Given the description of an element on the screen output the (x, y) to click on. 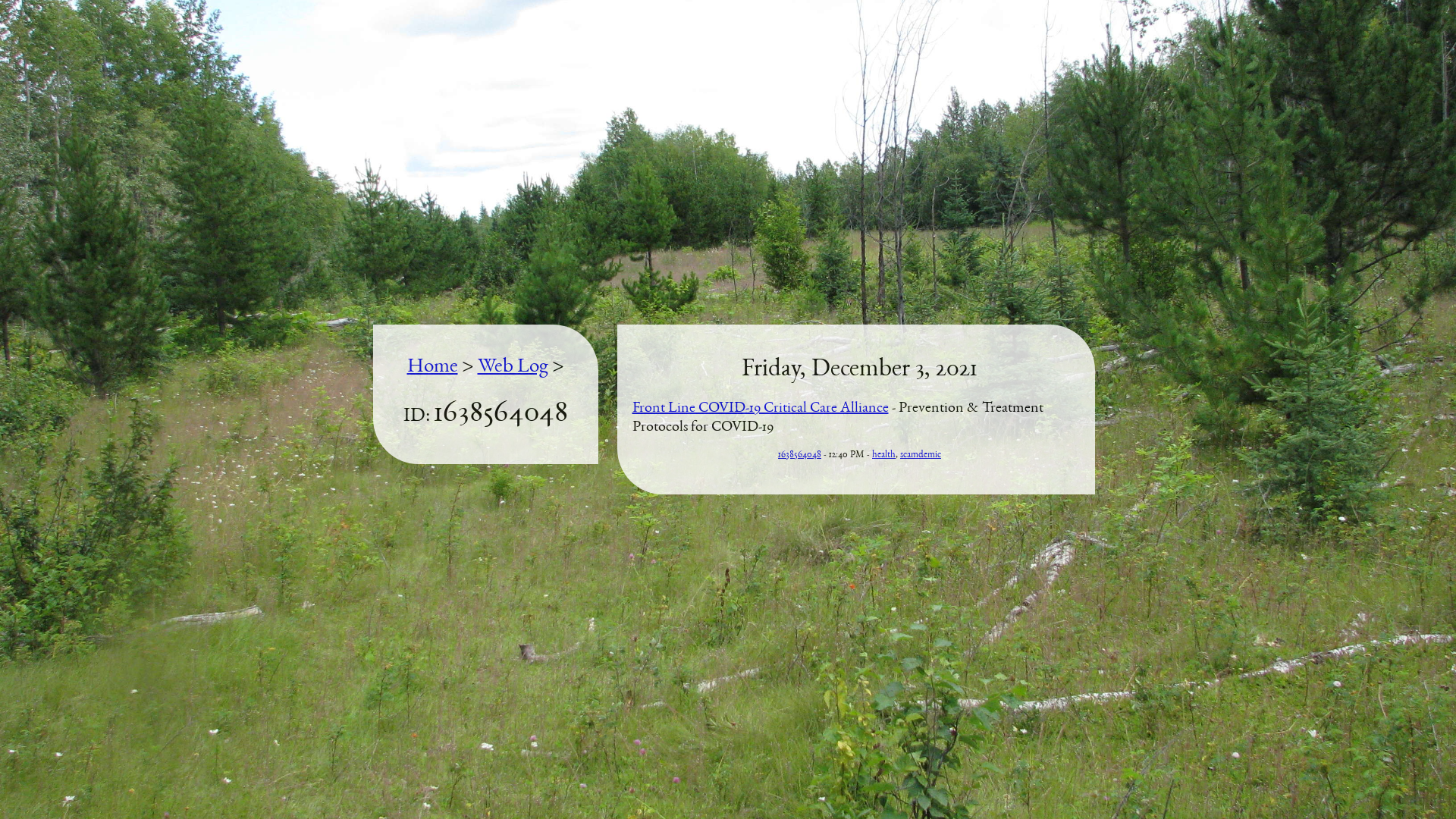
Home Element type: text (431, 367)
health Element type: text (883, 455)
scamdemic Element type: text (920, 455)
Web Log Element type: text (512, 367)
Front Line COVID-19 Critical Care Alliance Element type: text (760, 408)
1638564048 Element type: text (799, 455)
